Given the description of an element on the screen output the (x, y) to click on. 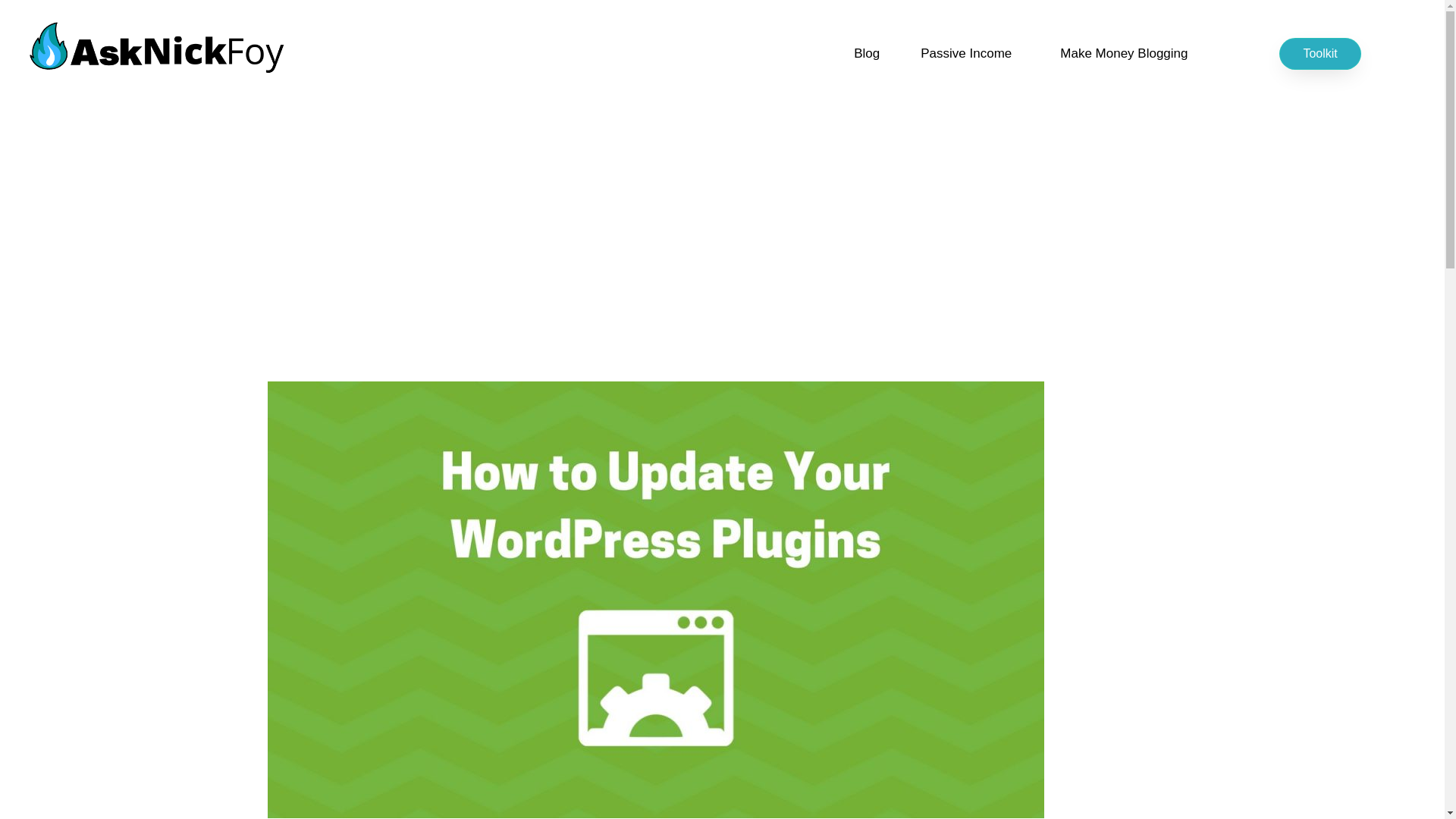
Passive Income (969, 53)
Toolkit (1319, 53)
Make Money Blogging (1123, 53)
Blog (865, 53)
